Given the description of an element on the screen output the (x, y) to click on. 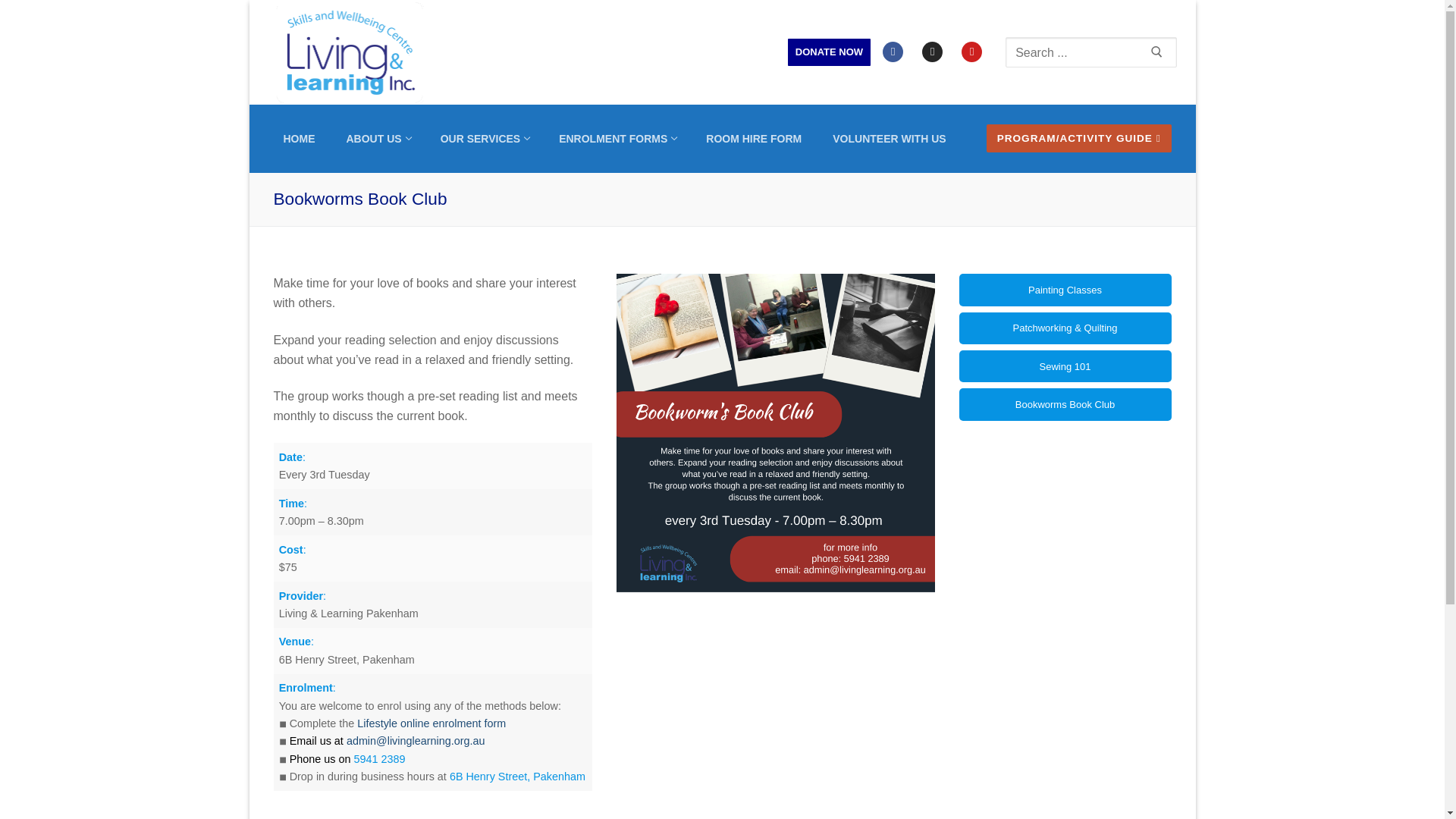
Facebook (892, 51)
DONATE NOW (377, 138)
Youtube (828, 52)
DONATE NOW (616, 138)
Search for: (971, 51)
Instagram (484, 138)
